Given the description of an element on the screen output the (x, y) to click on. 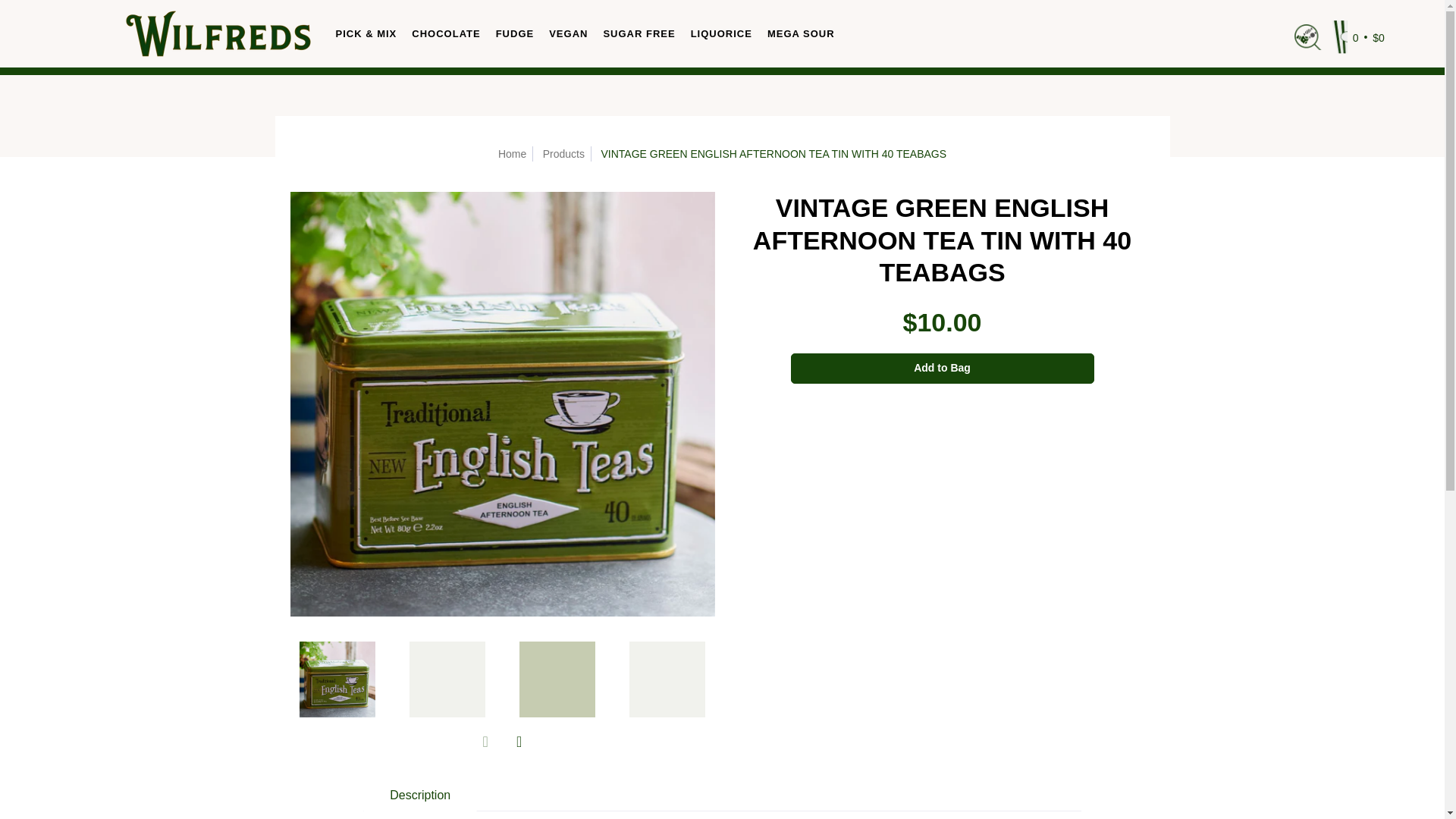
Description (419, 795)
Wilfreds (217, 33)
VINTAGE GREEN ENGLISH AFTERNOON TEA TIN WITH 40 TEABAGS (556, 678)
Liquorice (721, 33)
Home (511, 153)
Add to Bag (941, 368)
Add to Bag (941, 368)
LIQUORICE (721, 33)
CHOCOLATE (445, 33)
VINTAGE GREEN ENGLISH AFTERNOON TEA TIN WITH 40 TEABAGS (336, 678)
